Given the description of an element on the screen output the (x, y) to click on. 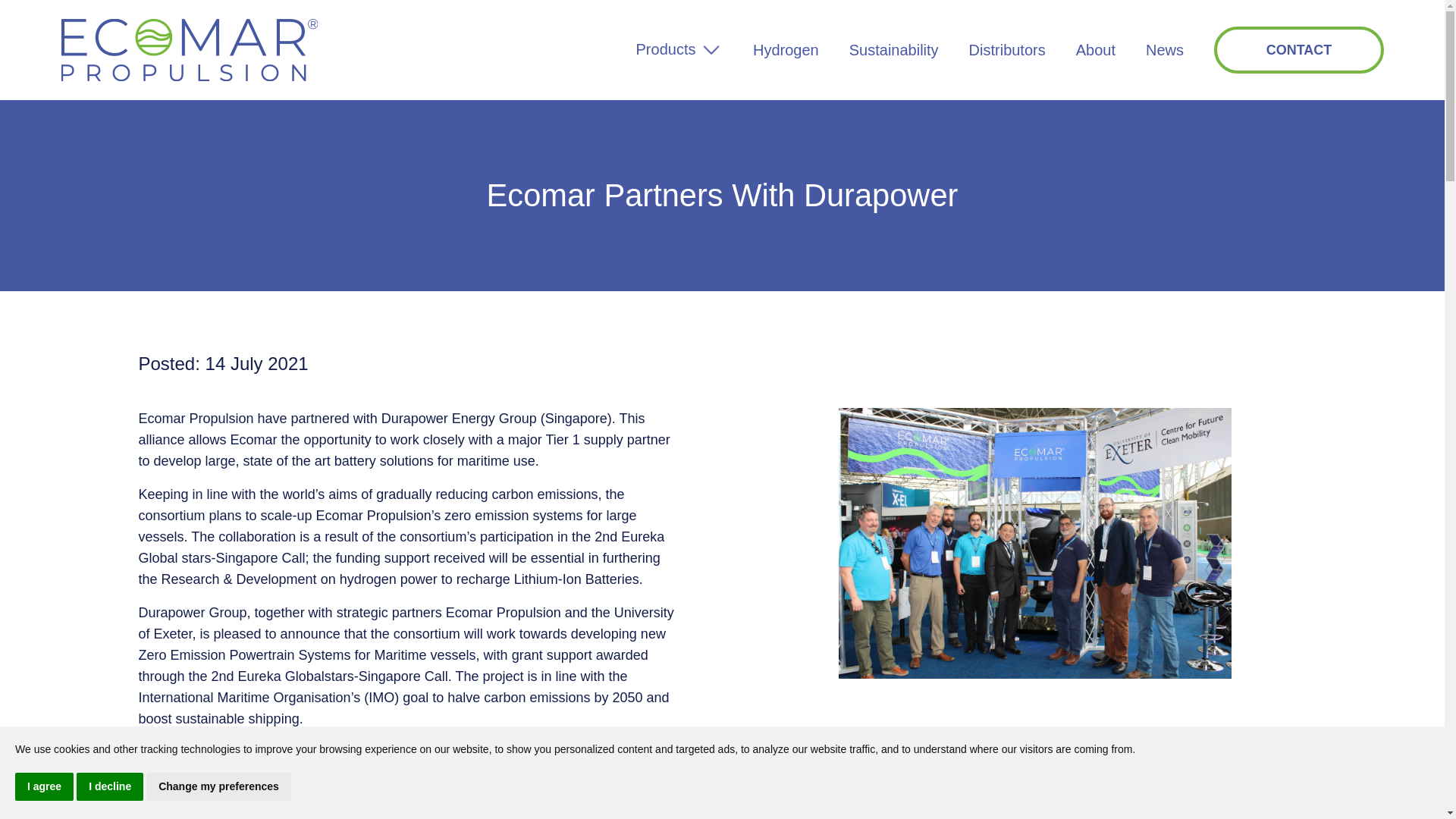
CONTACT (1299, 49)
Sustainability (893, 49)
Hydrogen (785, 49)
Distributors (1007, 49)
About (1095, 49)
Products (679, 48)
Change my preferences (219, 786)
News (1164, 49)
I decline (109, 786)
I agree (44, 786)
